Given the description of an element on the screen output the (x, y) to click on. 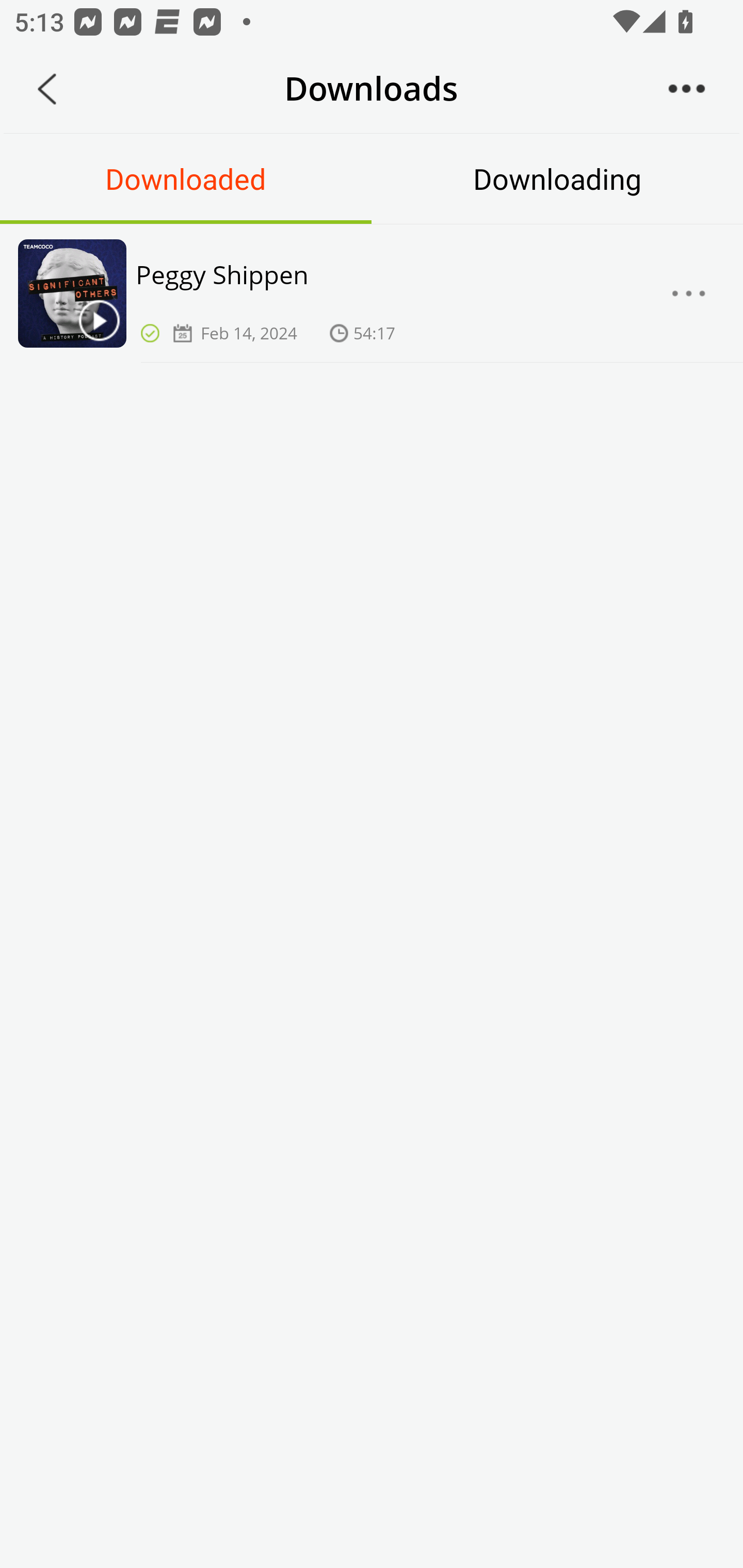
Back (46, 88)
Downloading (557, 178)
Peggy Shippen Feb 14, 2024 54:17 (371, 293)
